Given the description of an element on the screen output the (x, y) to click on. 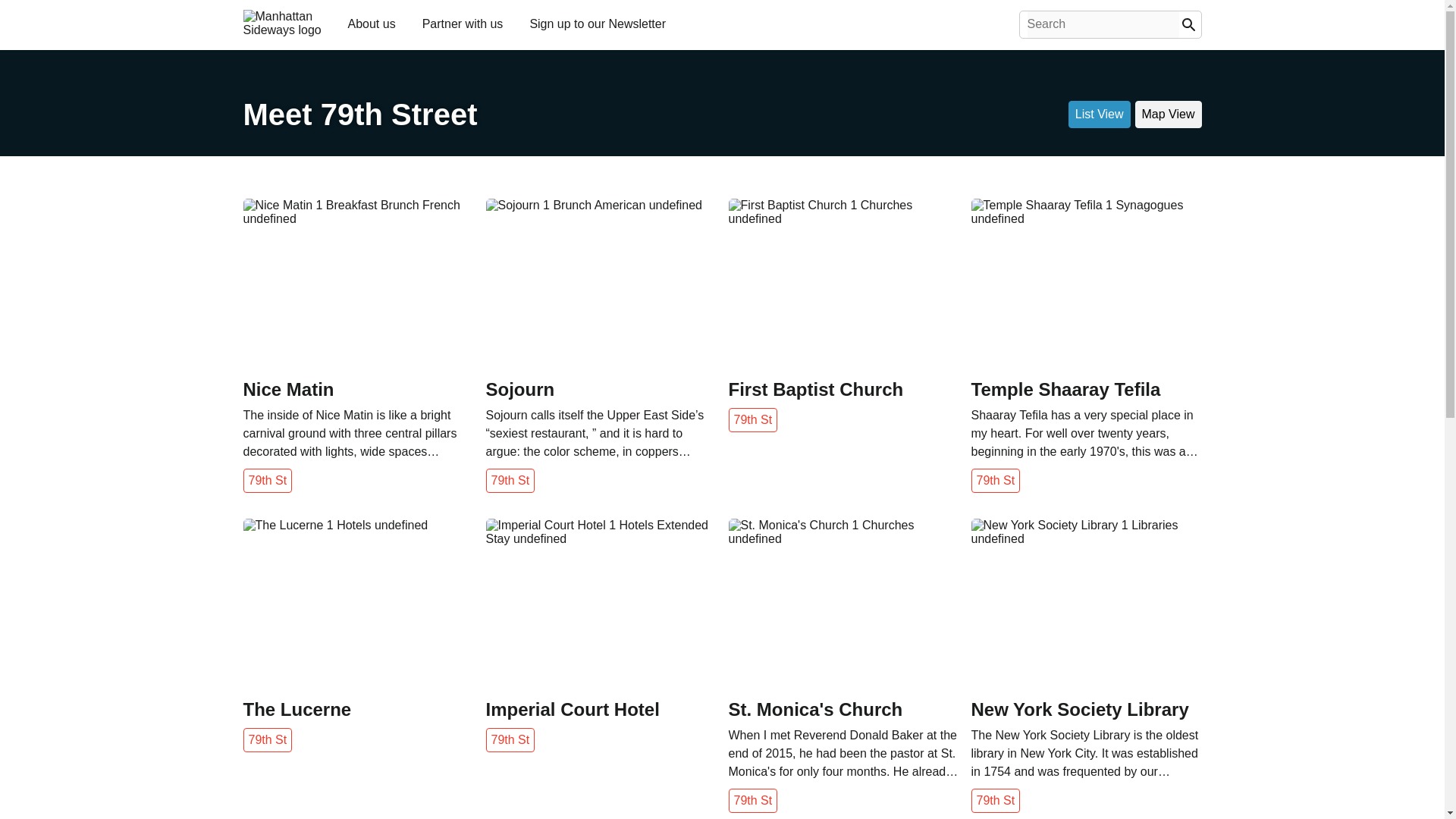
79th St (267, 480)
List View (1099, 113)
Map View (1168, 113)
First Baptist Church (843, 389)
About us (371, 23)
Partner with us (462, 23)
79th St (509, 480)
79th St (752, 419)
Sign up to our Newsletter (596, 23)
